Given the description of an element on the screen output the (x, y) to click on. 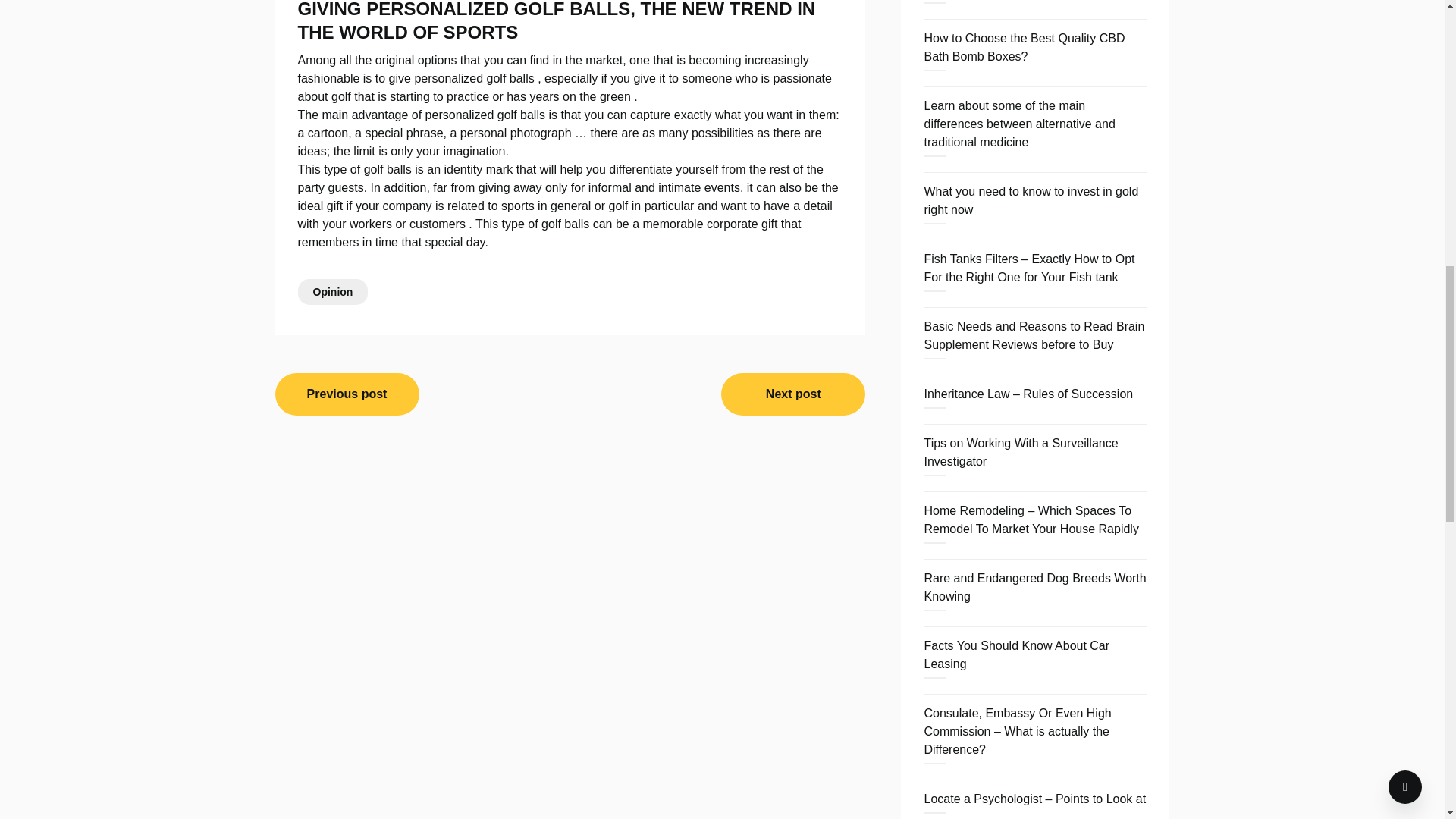
Facts You Should Know About Car Leasing (1016, 654)
Previous post (347, 394)
Rare and Endangered Dog Breeds Worth Knowing (1034, 586)
Next post (792, 394)
Tips on Working With a Surveillance Investigator (1020, 451)
Opinion (332, 291)
What you need to know to invest in gold right now (1030, 200)
How to Choose the Best Quality CBD Bath Bomb Boxes? (1023, 47)
